Given the description of an element on the screen output the (x, y) to click on. 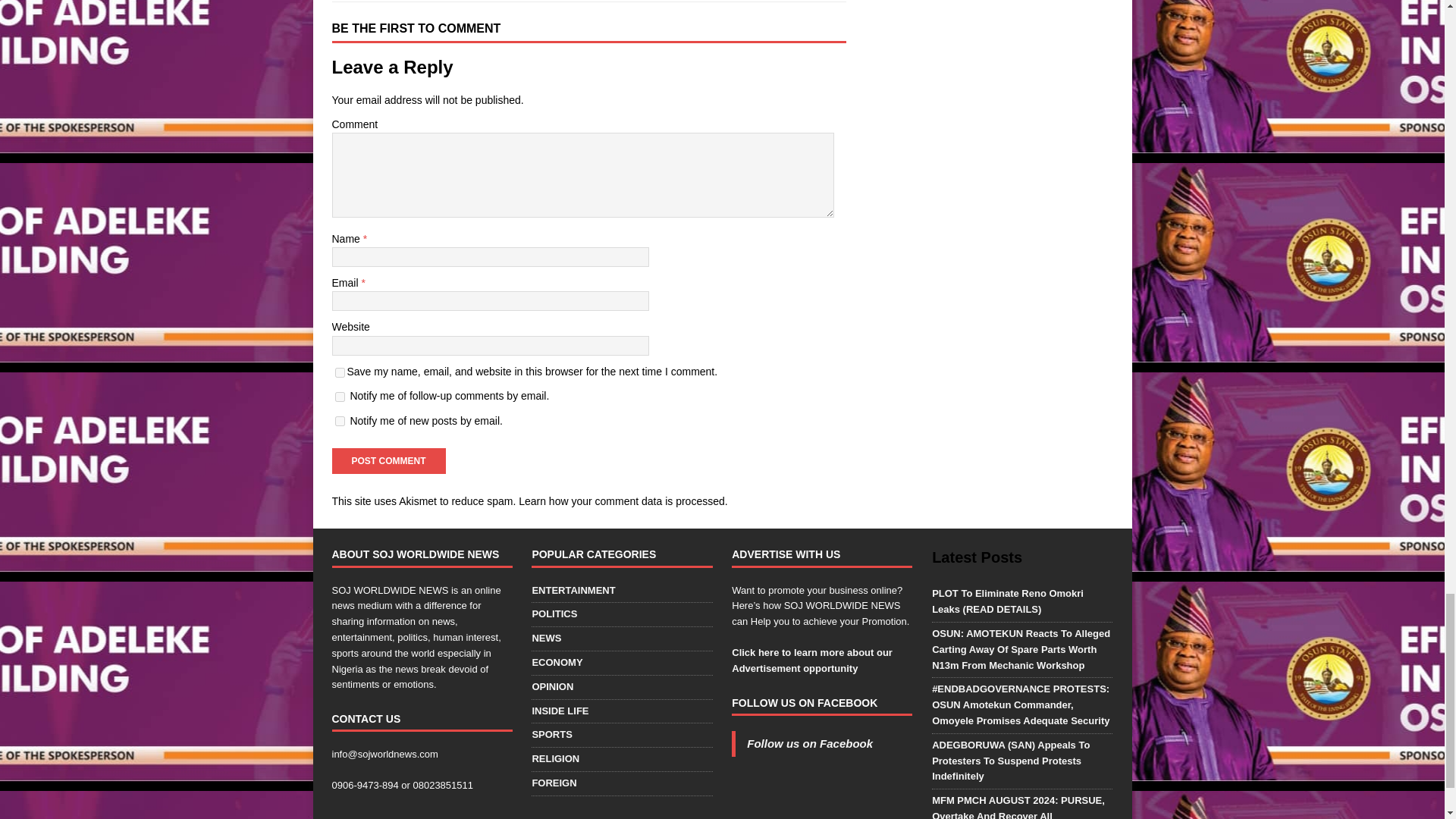
subscribe (339, 397)
yes (339, 372)
Post Comment (388, 460)
Post Comment (388, 460)
subscribe (339, 420)
